Given the description of an element on the screen output the (x, y) to click on. 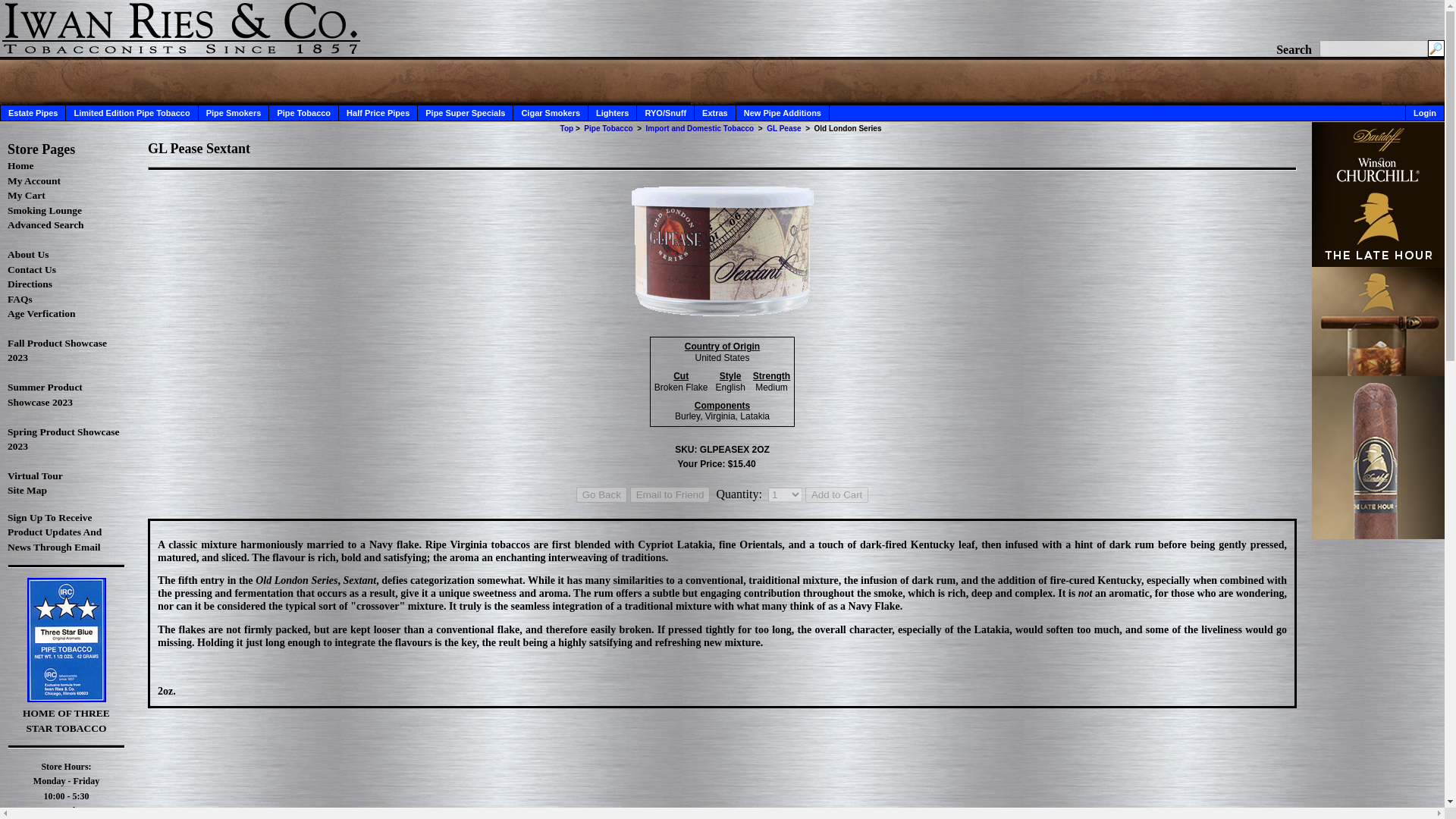
Go Back (601, 494)
Limited Edition Pipe Tobacco (130, 112)
Estate Pipes (33, 112)
Pipe Smokers (233, 112)
Email to Friend (670, 494)
Add to Cart (836, 494)
gl pease (783, 128)
pipe tobacco (607, 128)
import and domestic tobacco (700, 128)
